Given the description of an element on the screen output the (x, y) to click on. 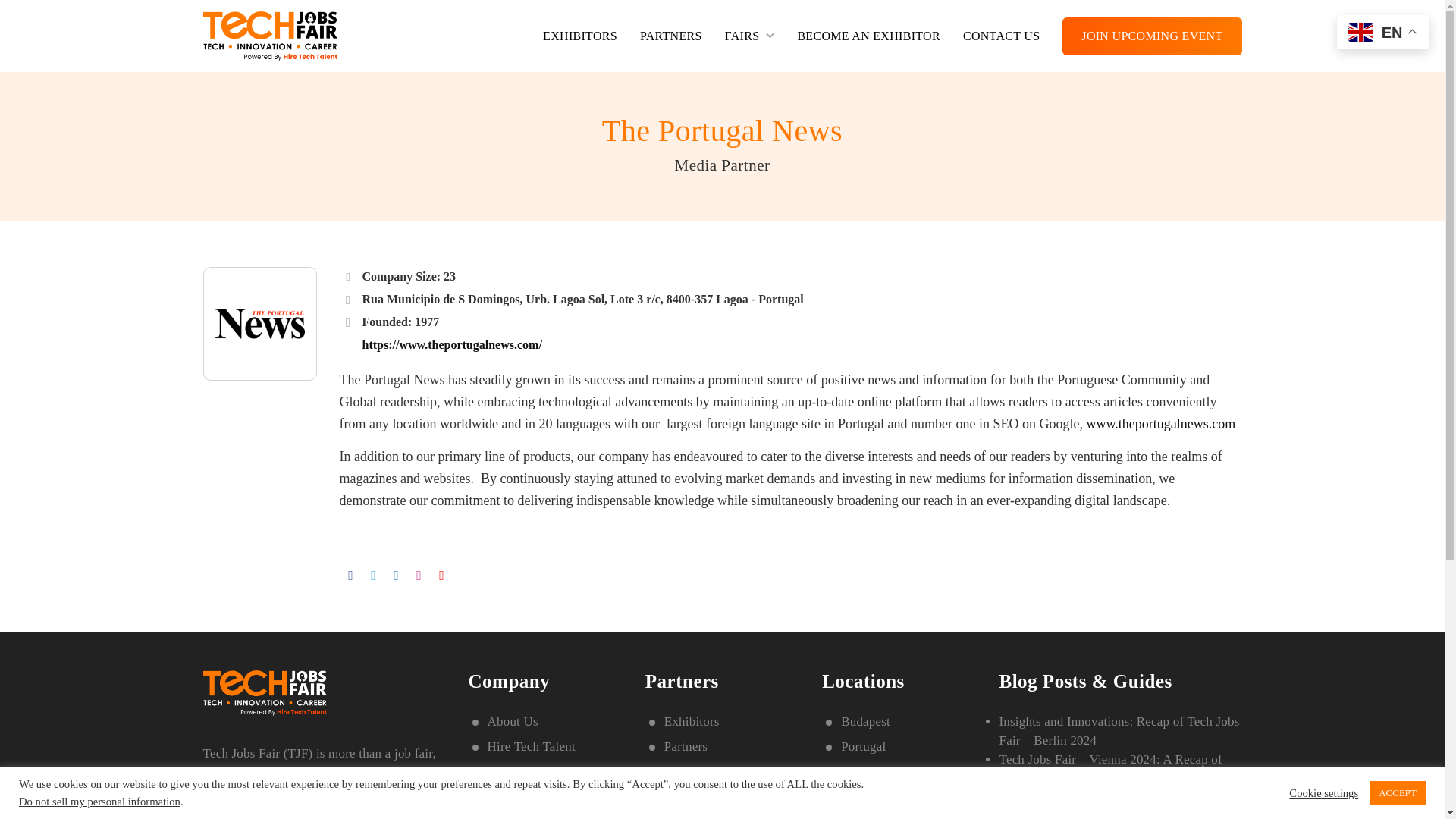
CONTACT US (1000, 34)
BECOME AN EXHIBITOR (868, 34)
EXHIBITORS (580, 34)
PARTNERS (670, 34)
JOIN UPCOMING EVENT (1152, 34)
FAIRS (749, 34)
